Given the description of an element on the screen output the (x, y) to click on. 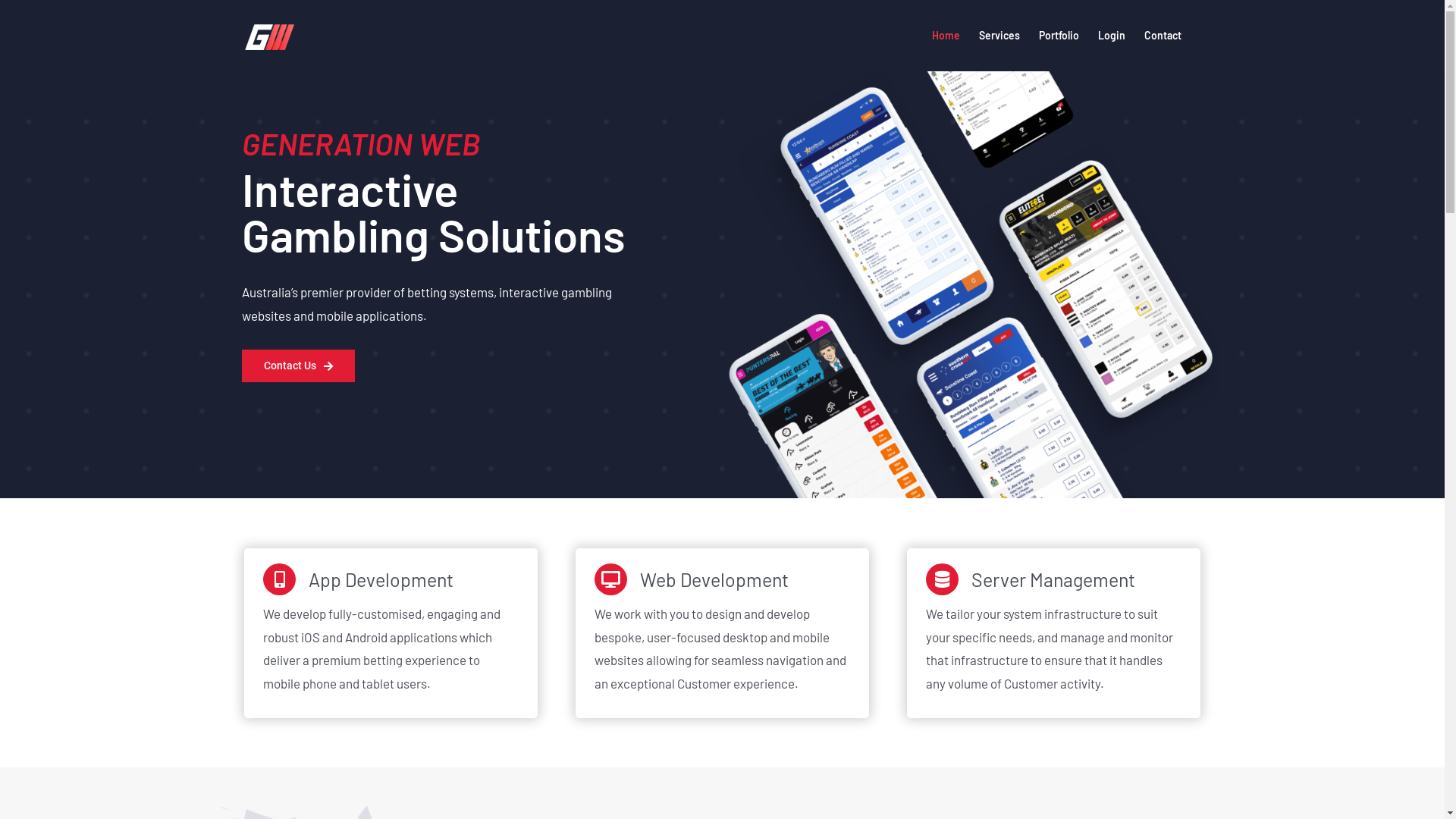
Login Element type: text (1111, 35)
Contact Us Element type: text (297, 365)
Home Element type: text (945, 35)
iPhone_Home_Mockup-V3-min Element type: hover (969, 284)
Services Element type: text (998, 35)
Contact Element type: text (1161, 35)
Portfolio Element type: text (1058, 35)
